Given the description of an element on the screen output the (x, y) to click on. 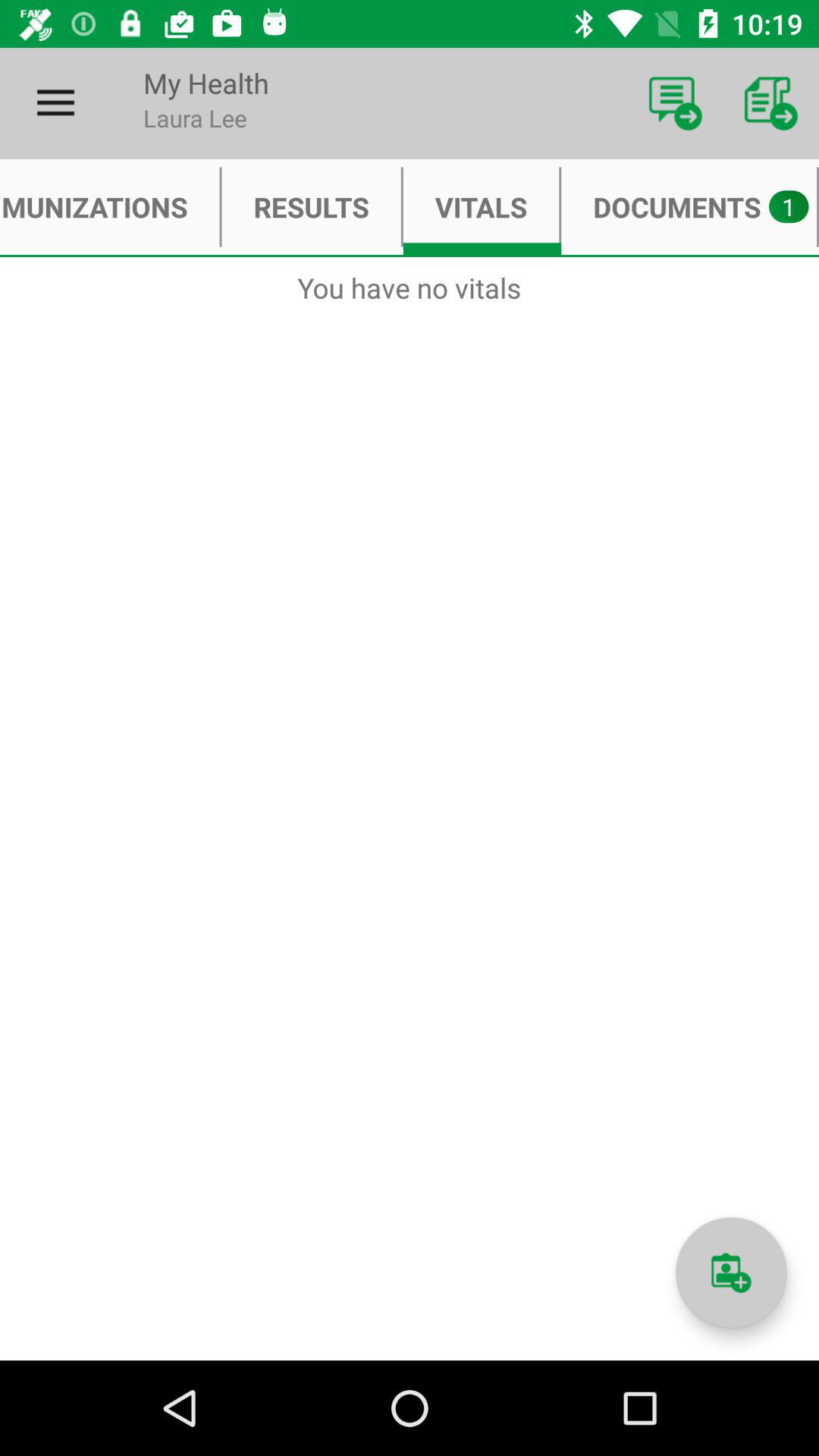
turn on item next to my health item (675, 103)
